Given the description of an element on the screen output the (x, y) to click on. 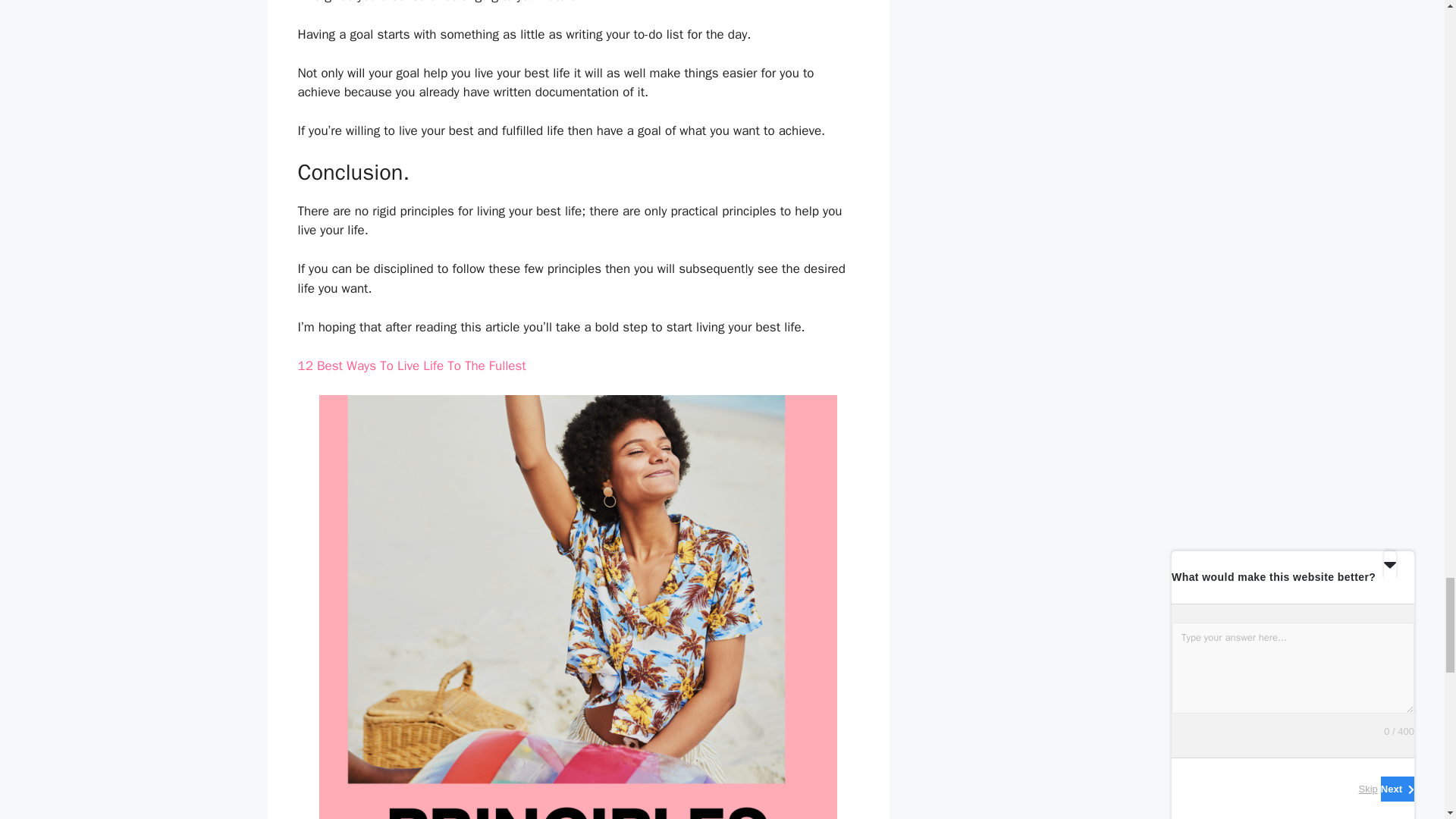
12 Best Ways To Live Life To The Fullest (411, 365)
